Given the description of an element on the screen output the (x, y) to click on. 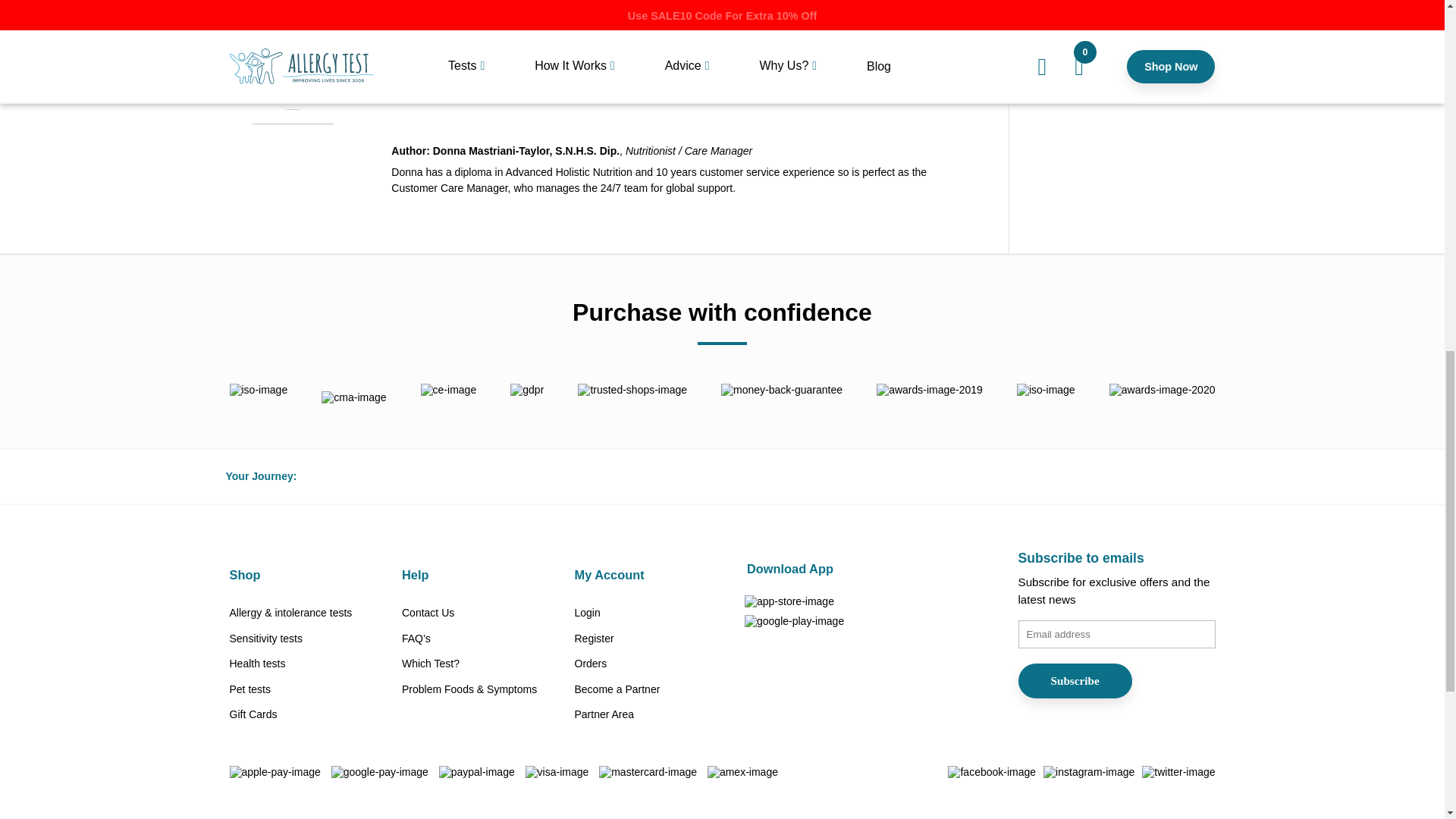
Subscribe (1074, 680)
